Given the description of an element on the screen output the (x, y) to click on. 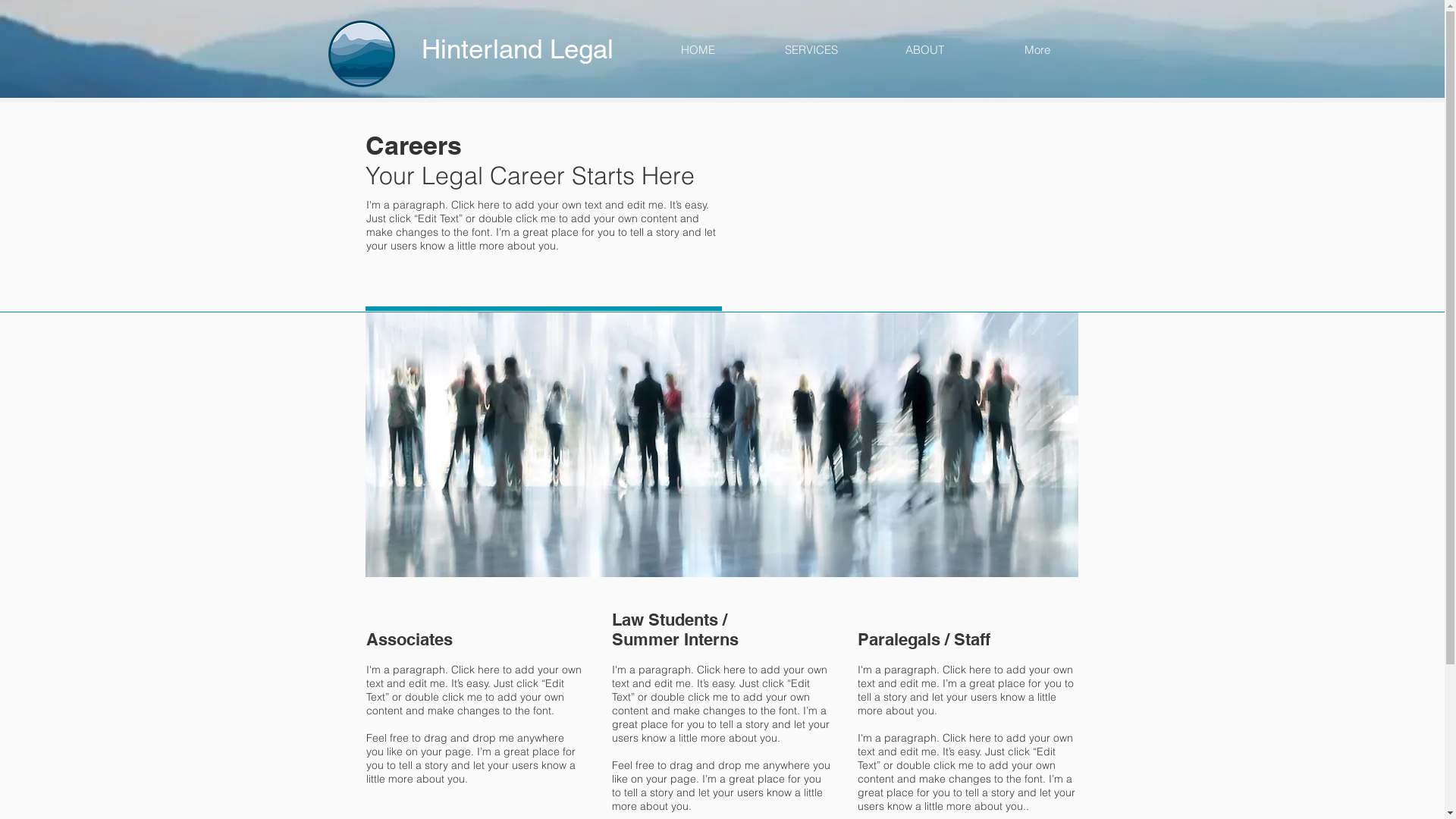
HOME Element type: text (698, 49)
SERVICES Element type: text (811, 49)
ABOUT Element type: text (923, 49)
Hinterland Legal       Element type: text (539, 48)
